Given the description of an element on the screen output the (x, y) to click on. 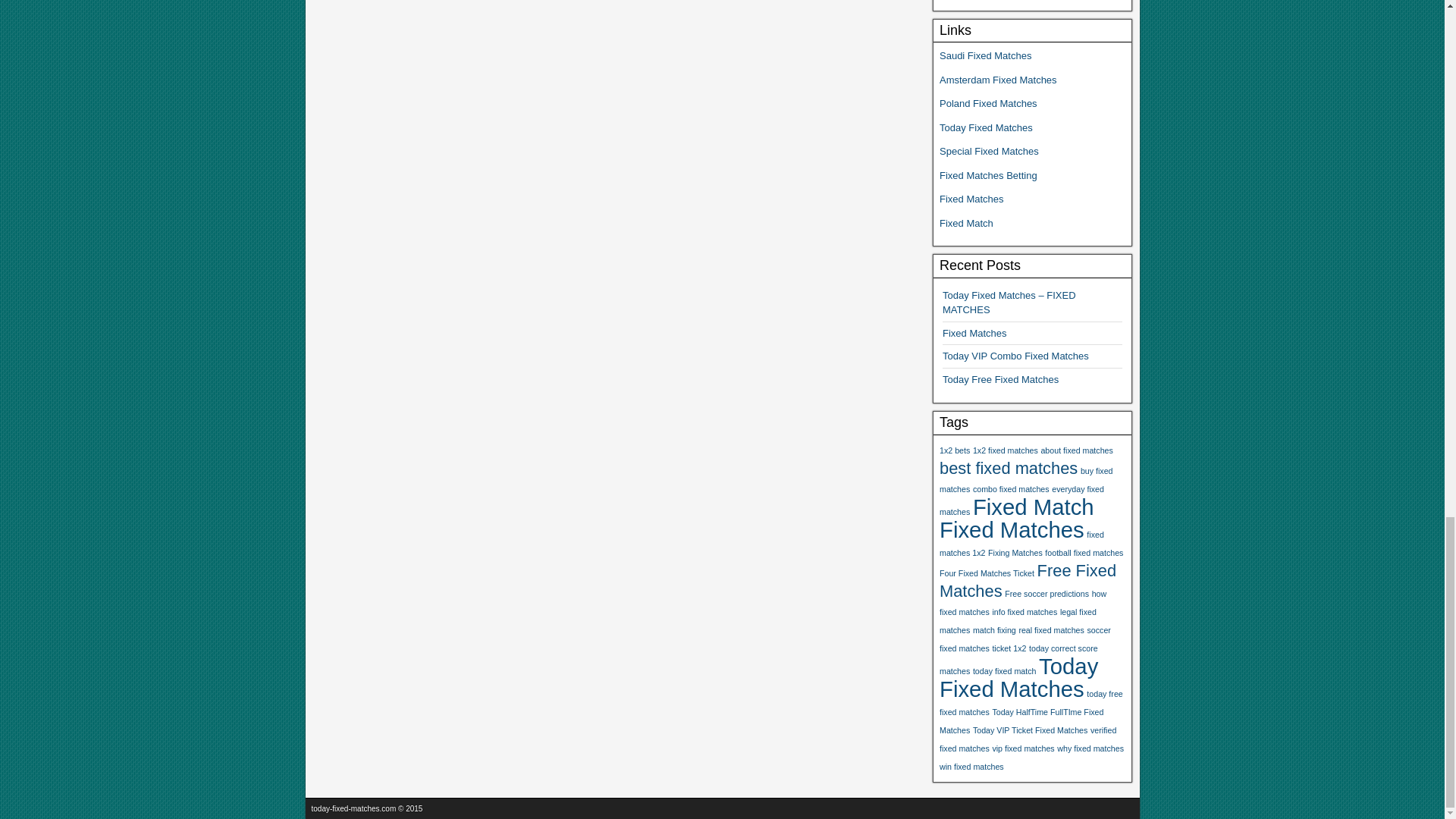
Fixed Matches Betting (987, 174)
fixed matches 1x2 (1021, 543)
combo fixed matches (1010, 488)
Saudi Fixed Matches (984, 55)
best fixed matches (1008, 467)
Fixed Matches (971, 198)
Today Free Fixed Matches (1000, 378)
Fixed Match (965, 223)
Fixed Matches (1011, 529)
Amsterdam Fixed Matches (998, 79)
buy fixed matches (1026, 479)
Fixed Matches (974, 333)
Fixed Match (1033, 506)
everyday fixed matches (1021, 500)
Poland Fixed Matches (987, 102)
